Given the description of an element on the screen output the (x, y) to click on. 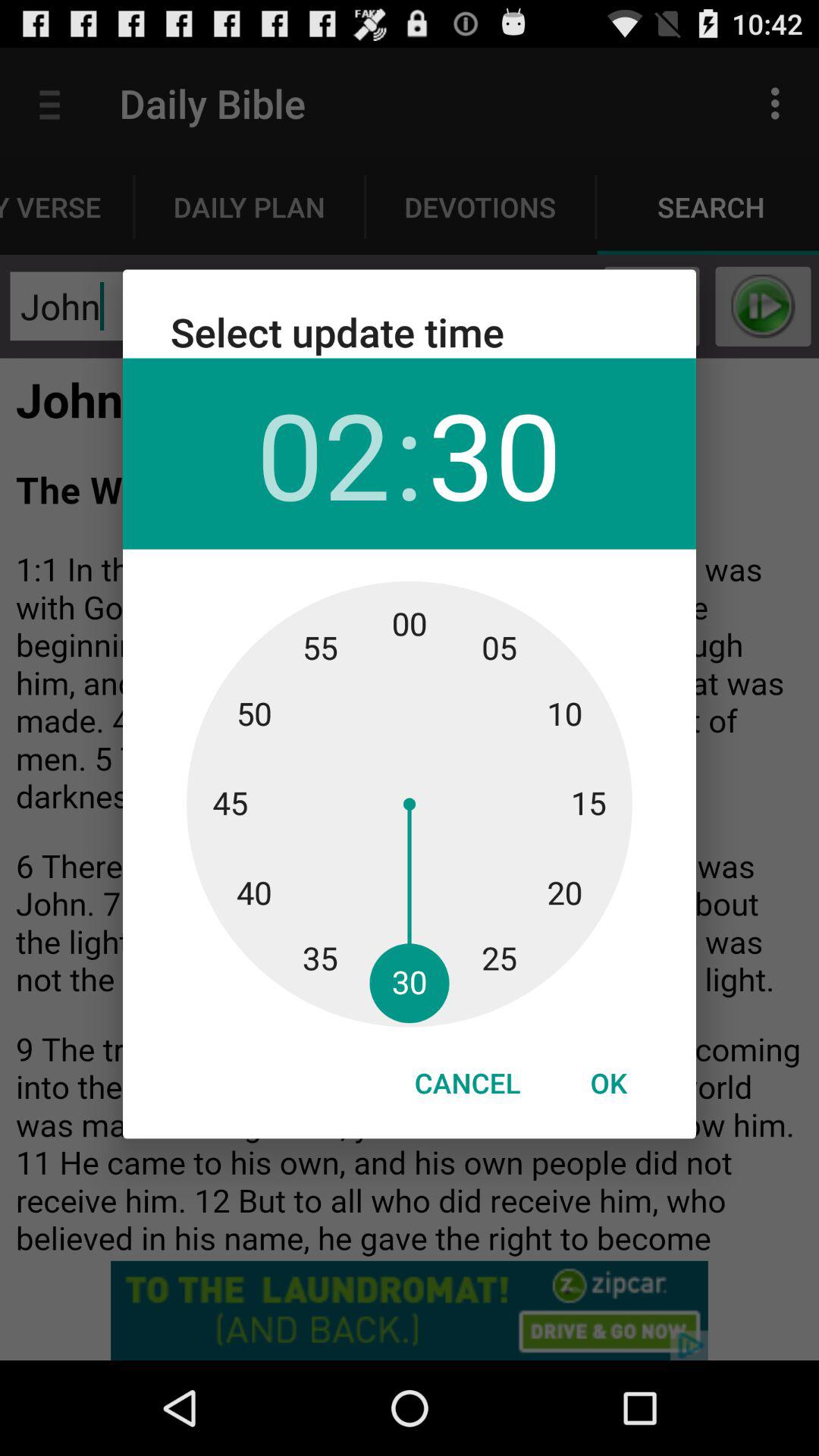
swipe until the 30 item (494, 453)
